Given the description of an element on the screen output the (x, y) to click on. 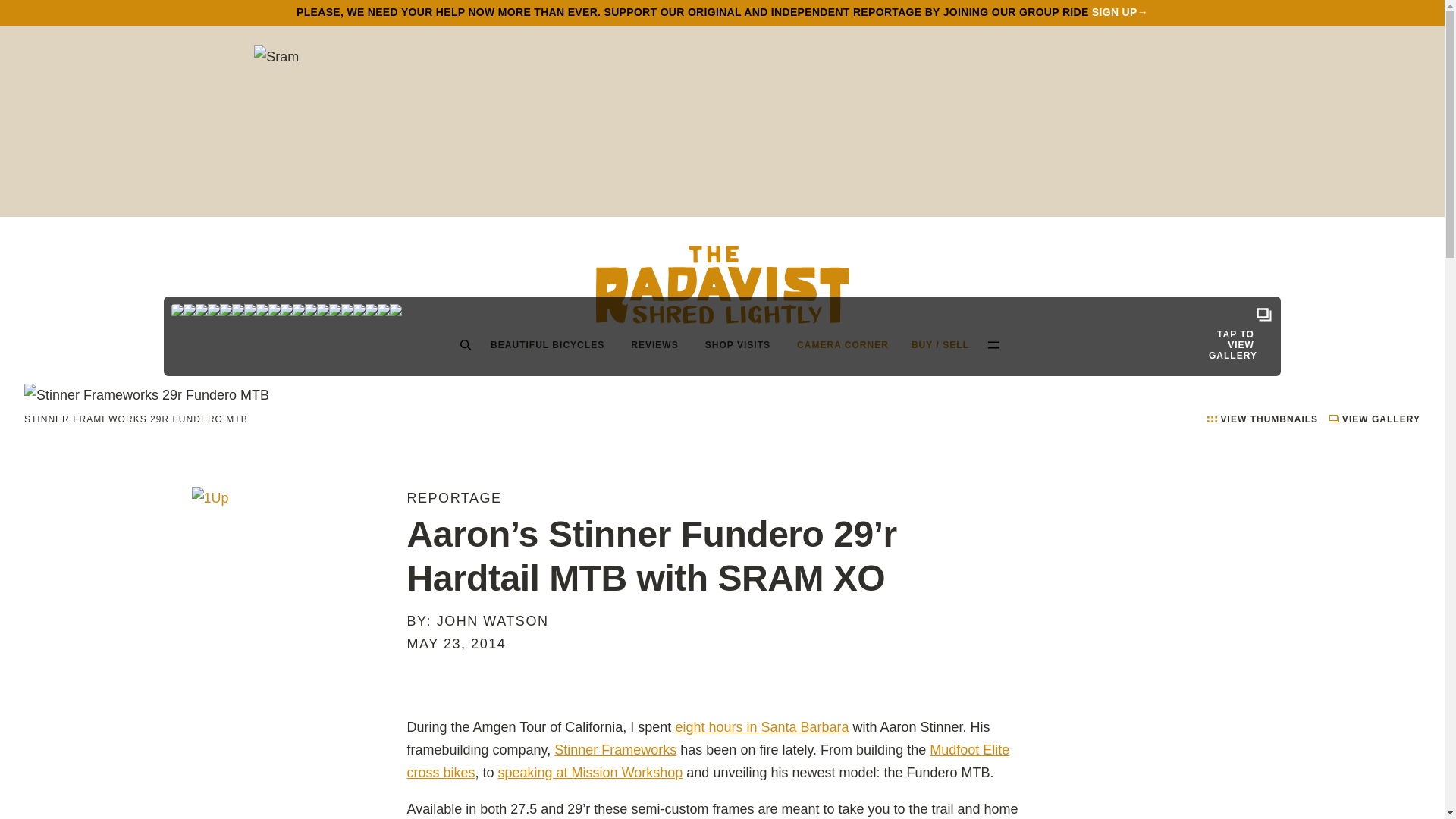
Photos of Stinner Frameworks at Mission Workshop (589, 772)
The Radavist (721, 284)
SHOP VISITS (737, 344)
sticky tall (290, 569)
BEAUTIFUL BICYCLES (547, 344)
REVIEWS (654, 344)
CAMERA CORNER (842, 344)
The Radavist (721, 284)
